Given the description of an element on the screen output the (x, y) to click on. 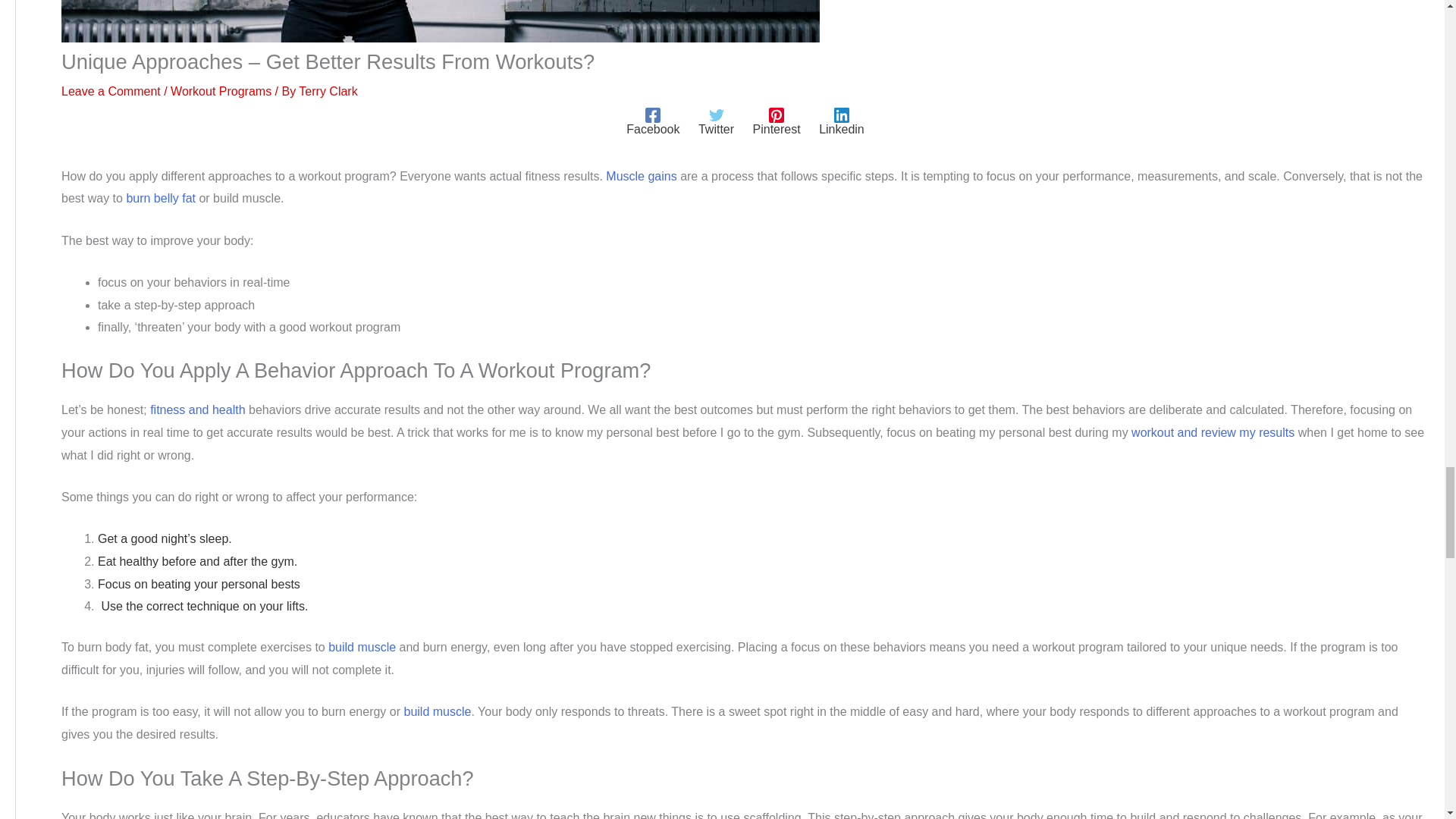
Leave a Comment (110, 91)
Terry Clark (327, 91)
workout and review my results (1212, 431)
Pinterest (776, 121)
Linkedin (841, 121)
View all posts by Terry Clark (327, 91)
Muscle gains (641, 175)
Twitter (715, 121)
burn belly fat (160, 197)
Facebook (652, 121)
